Given the description of an element on the screen output the (x, y) to click on. 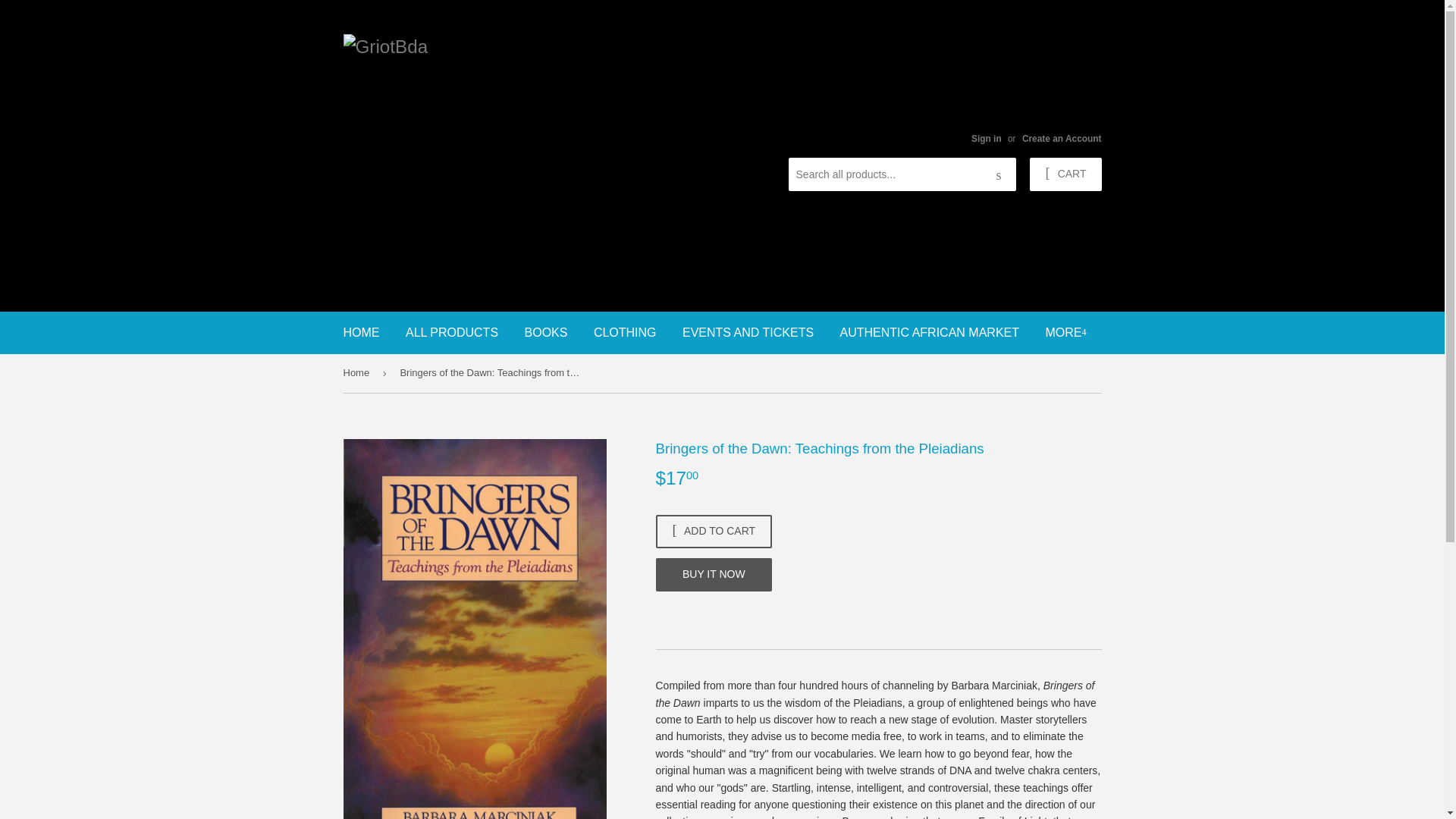
MORE (1065, 332)
BOOKS (546, 332)
ALL PRODUCTS (451, 332)
Sign in (986, 138)
CART (1064, 174)
AUTHENTIC AFRICAN MARKET (929, 332)
Search (998, 174)
CLOTHING (625, 332)
EVENTS AND TICKETS (748, 332)
Create an Account (1062, 138)
Back to the frontpage (358, 372)
HOME (361, 332)
